Given the description of an element on the screen output the (x, y) to click on. 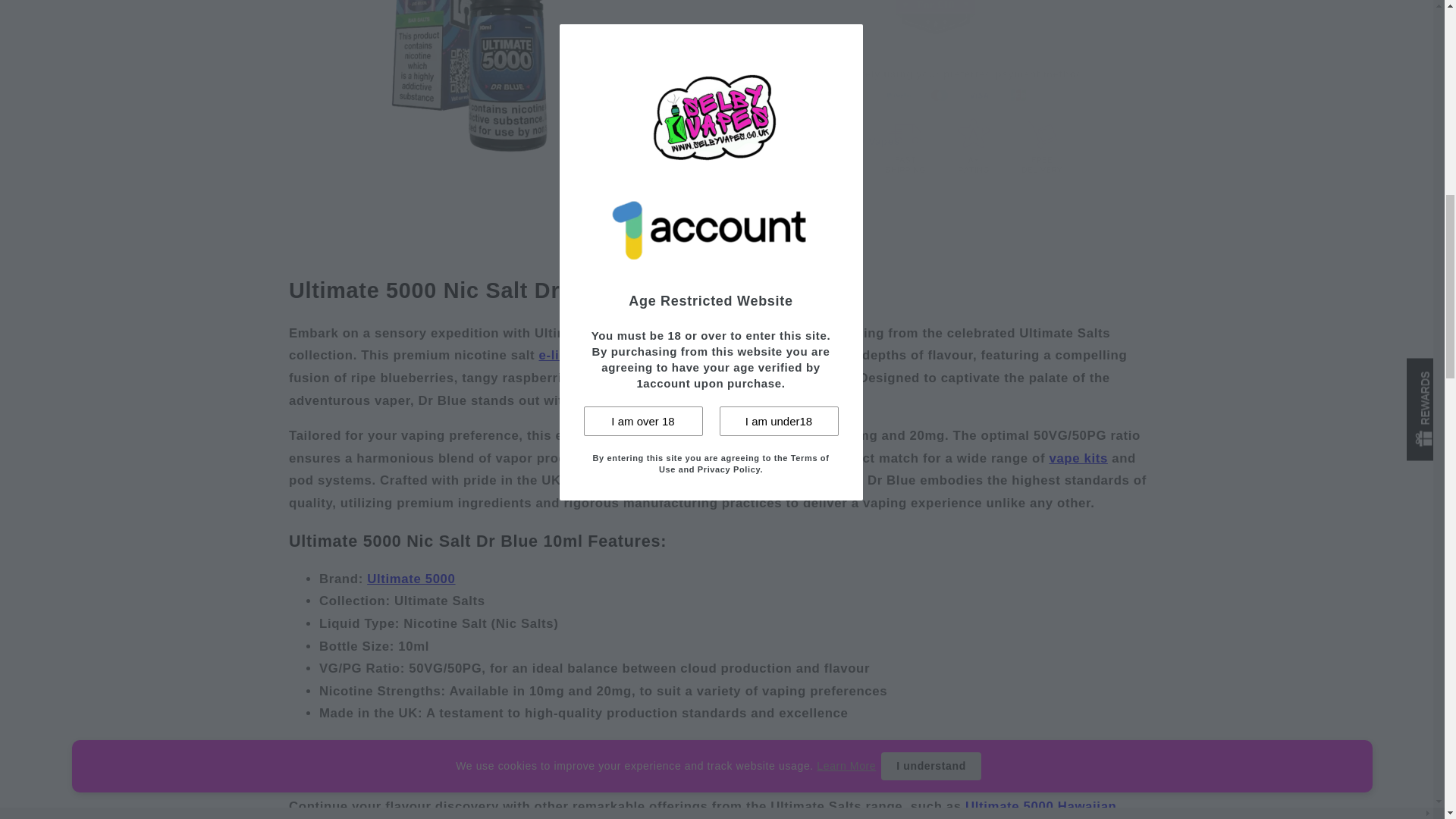
Hawaiian Sunset Ultimate 5000 Nic Salts (702, 809)
Ultimate 5000 Nic Salts (410, 578)
Vape Kits (1078, 458)
Nic Salts (652, 332)
e-liquid (563, 355)
Selby Vapes (867, 42)
